Given the description of an element on the screen output the (x, y) to click on. 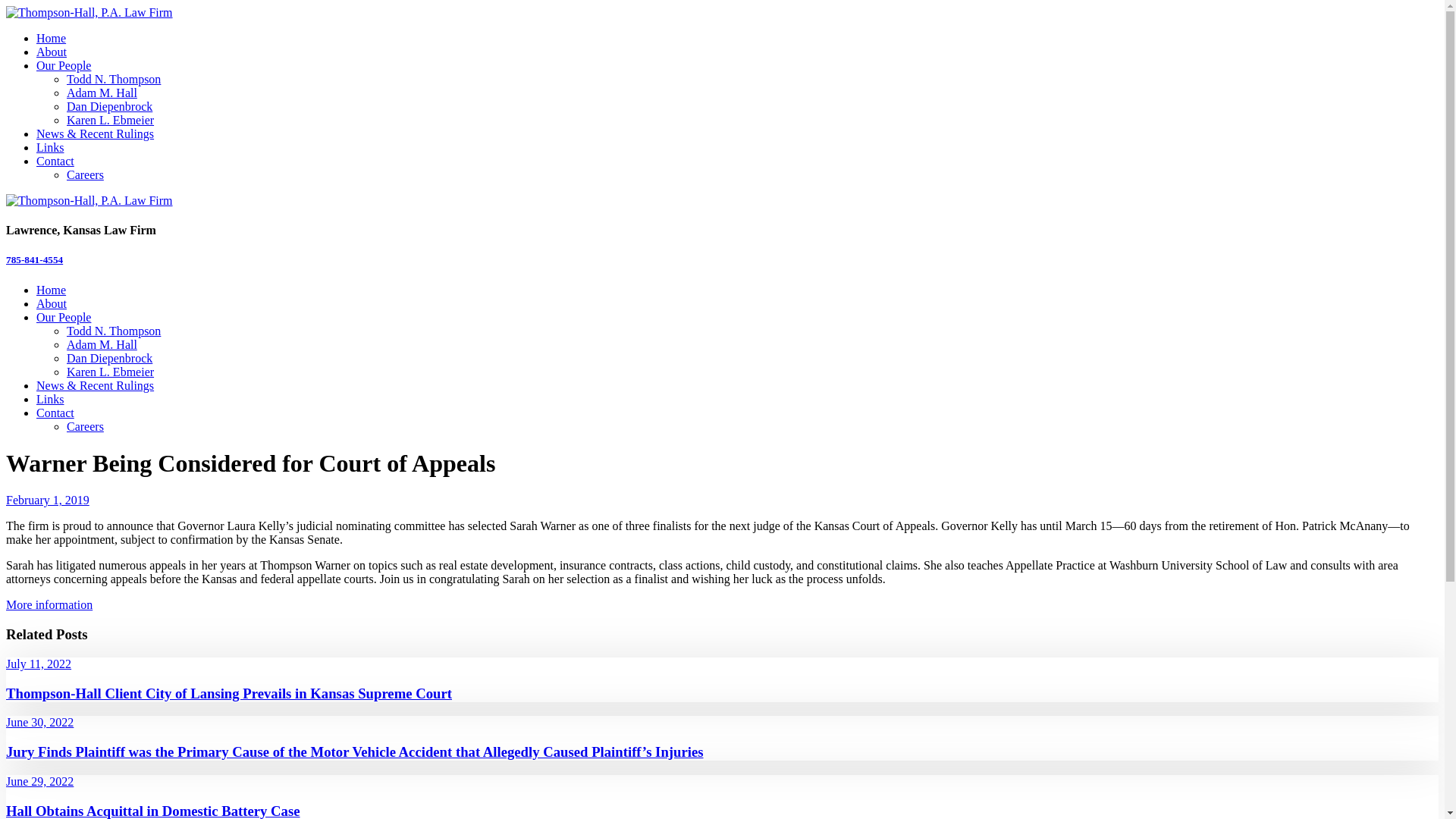
Dan Diepenbrock Element type: text (109, 106)
Todd N. Thompson Element type: text (113, 330)
News & Recent Rulings Element type: text (94, 385)
More information Element type: text (49, 604)
Contact Element type: text (55, 160)
Karen L. Ebmeier Element type: text (109, 119)
Adam M. Hall Element type: text (101, 92)
Our People Element type: text (63, 65)
Careers Element type: text (84, 174)
Home Element type: text (50, 289)
Contact Element type: text (55, 412)
February 1, 2019 Element type: text (47, 499)
Dan Diepenbrock Element type: text (109, 357)
About Element type: text (51, 51)
Our People Element type: text (63, 316)
About Element type: text (51, 303)
Careers Element type: text (84, 426)
Home Element type: text (50, 37)
Adam M. Hall Element type: text (101, 344)
Karen L. Ebmeier Element type: text (109, 371)
Thompson-Hall, P.A. Law Firm Element type: hover (89, 200)
June 29, 2022 Element type: text (39, 781)
July 11, 2022 Element type: text (38, 663)
785-841-4554 Element type: text (34, 259)
Thompson-Hall, P.A. Law Firm Element type: hover (89, 12)
News & Recent Rulings Element type: text (94, 133)
Links Element type: text (49, 398)
Links Element type: text (49, 147)
Todd N. Thompson Element type: text (113, 78)
June 30, 2022 Element type: text (39, 721)
